Given the description of an element on the screen output the (x, y) to click on. 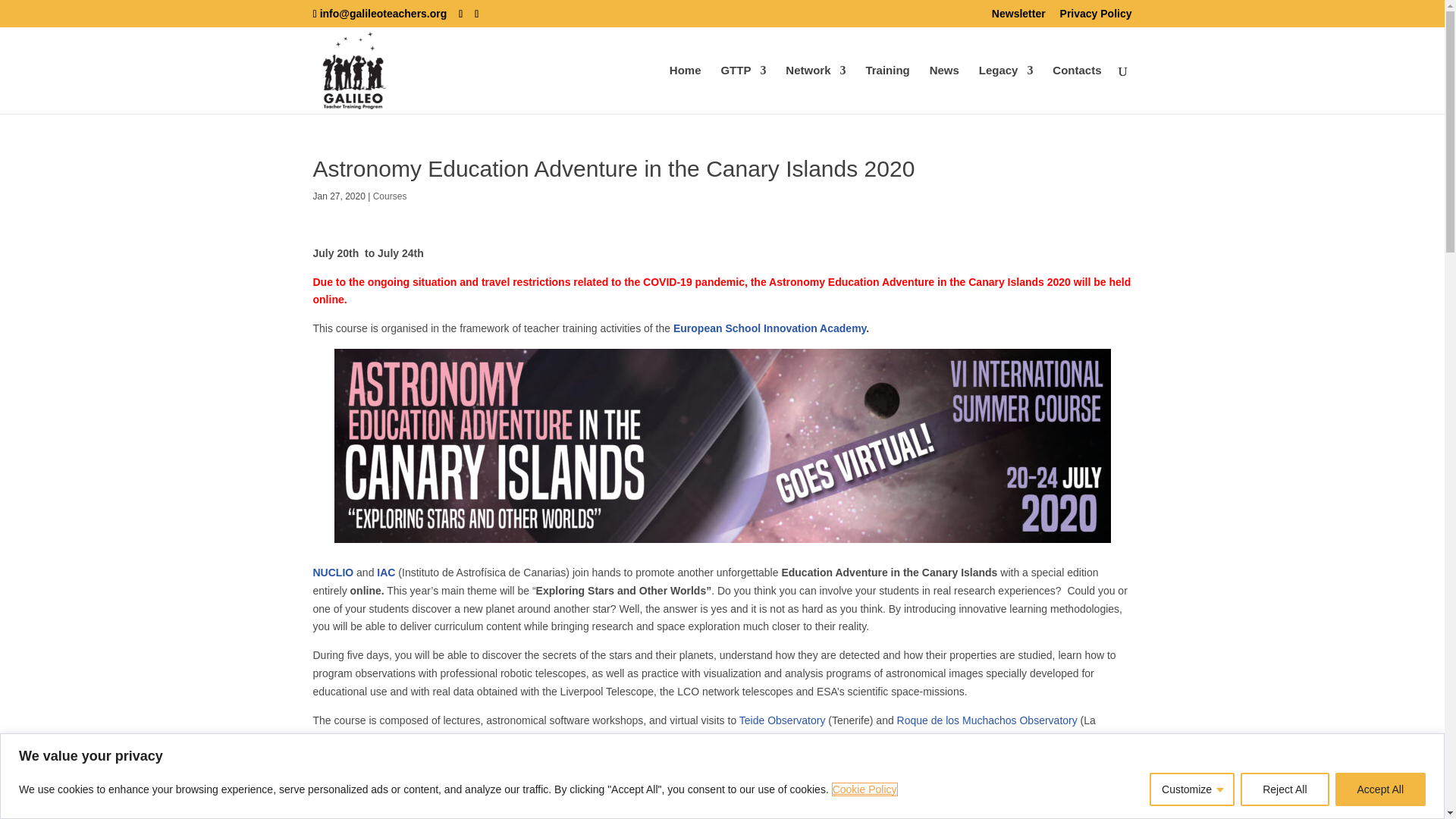
Cookie Policy (864, 789)
Newsletter (1018, 16)
Customize (1192, 788)
Legacy (1005, 89)
Network (815, 89)
Contacts (1076, 89)
GTTP (742, 89)
Training (886, 89)
Privacy Policy (1095, 16)
Reject All (1283, 788)
